Given the description of an element on the screen output the (x, y) to click on. 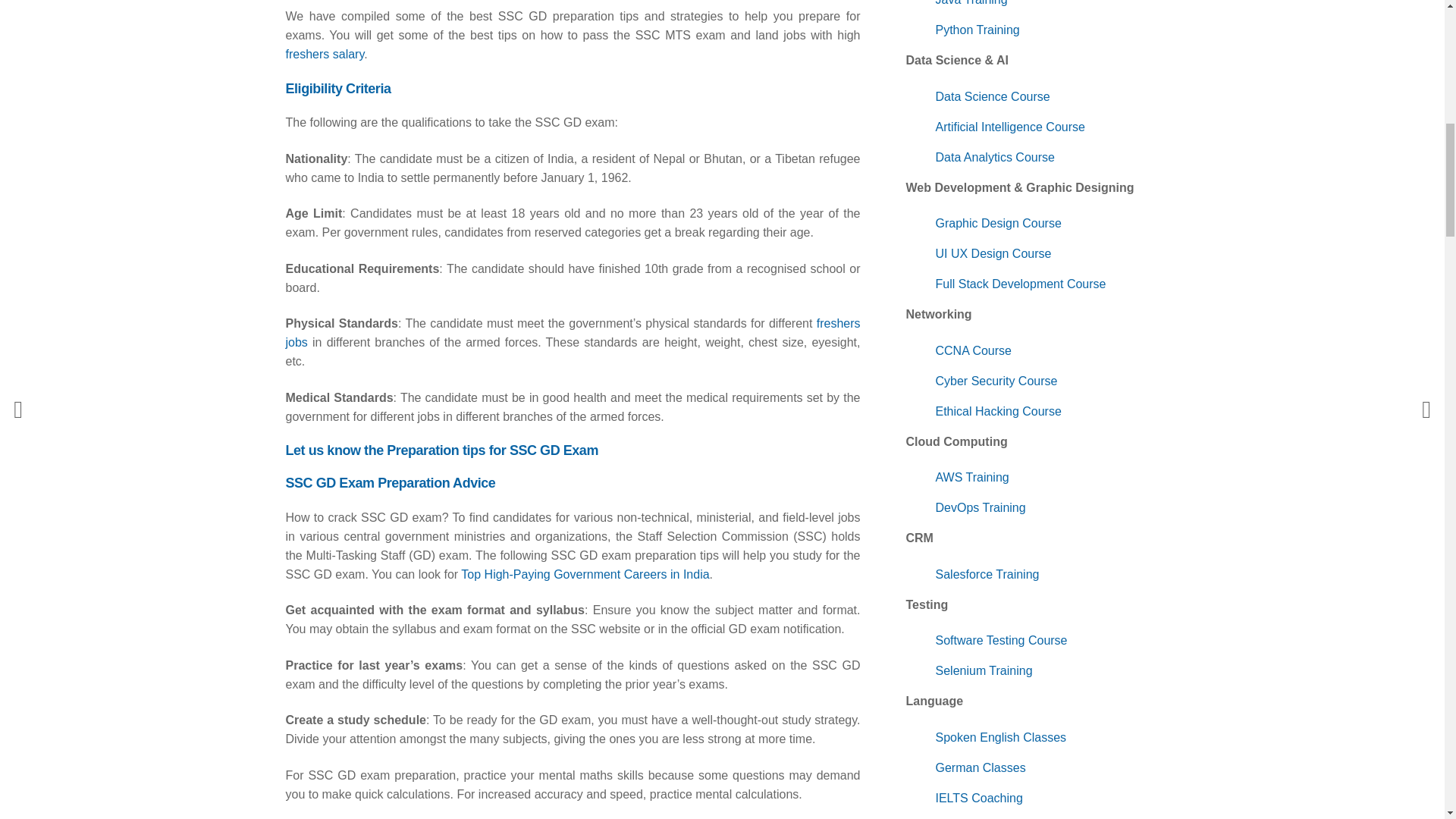
freshers salary (324, 53)
freshers jobs (572, 332)
Top High-Paying Government Careers in India (585, 574)
